Given the description of an element on the screen output the (x, y) to click on. 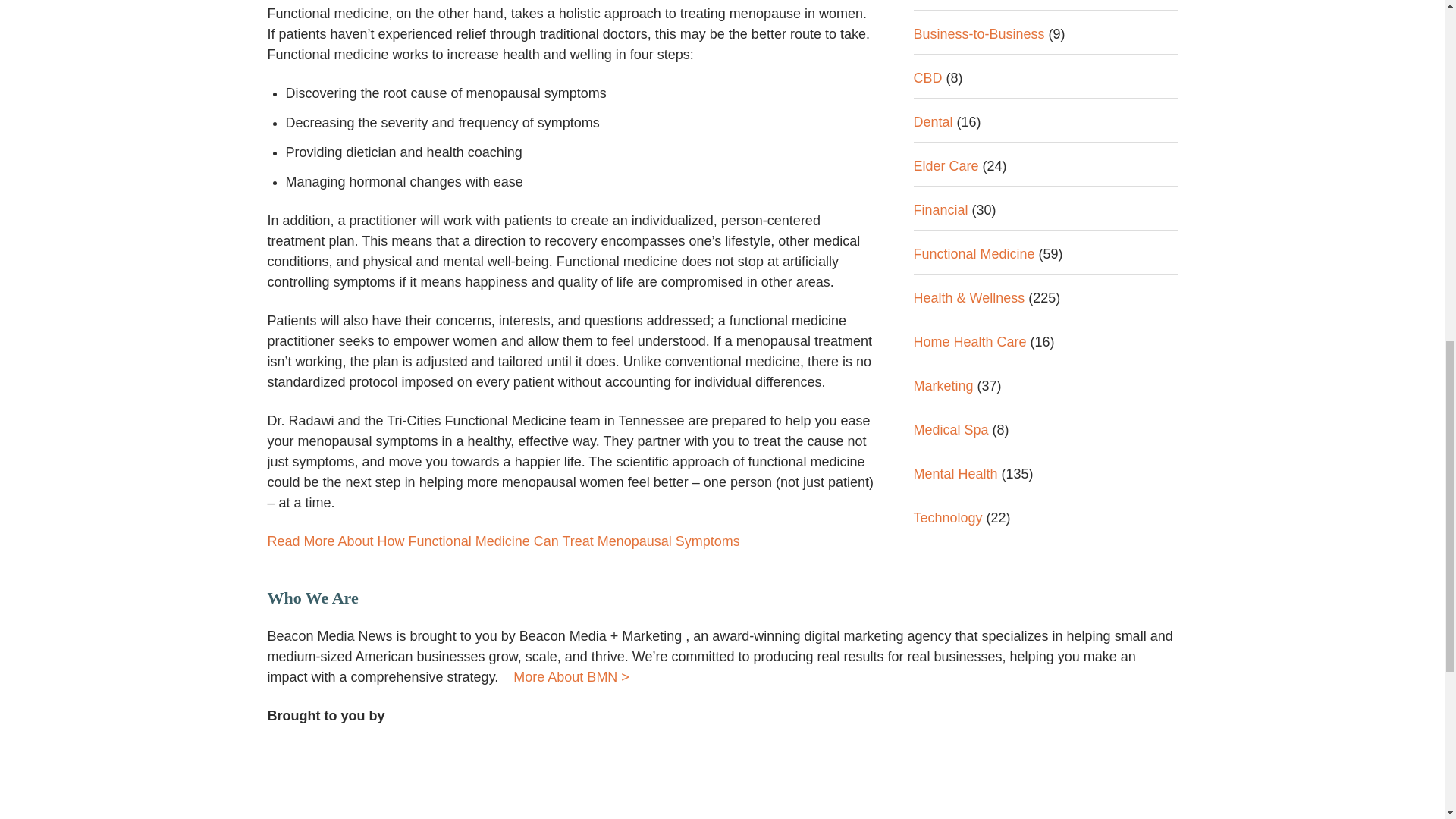
Technology (946, 58)
Mental Health (954, 14)
